Given the description of an element on the screen output the (x, y) to click on. 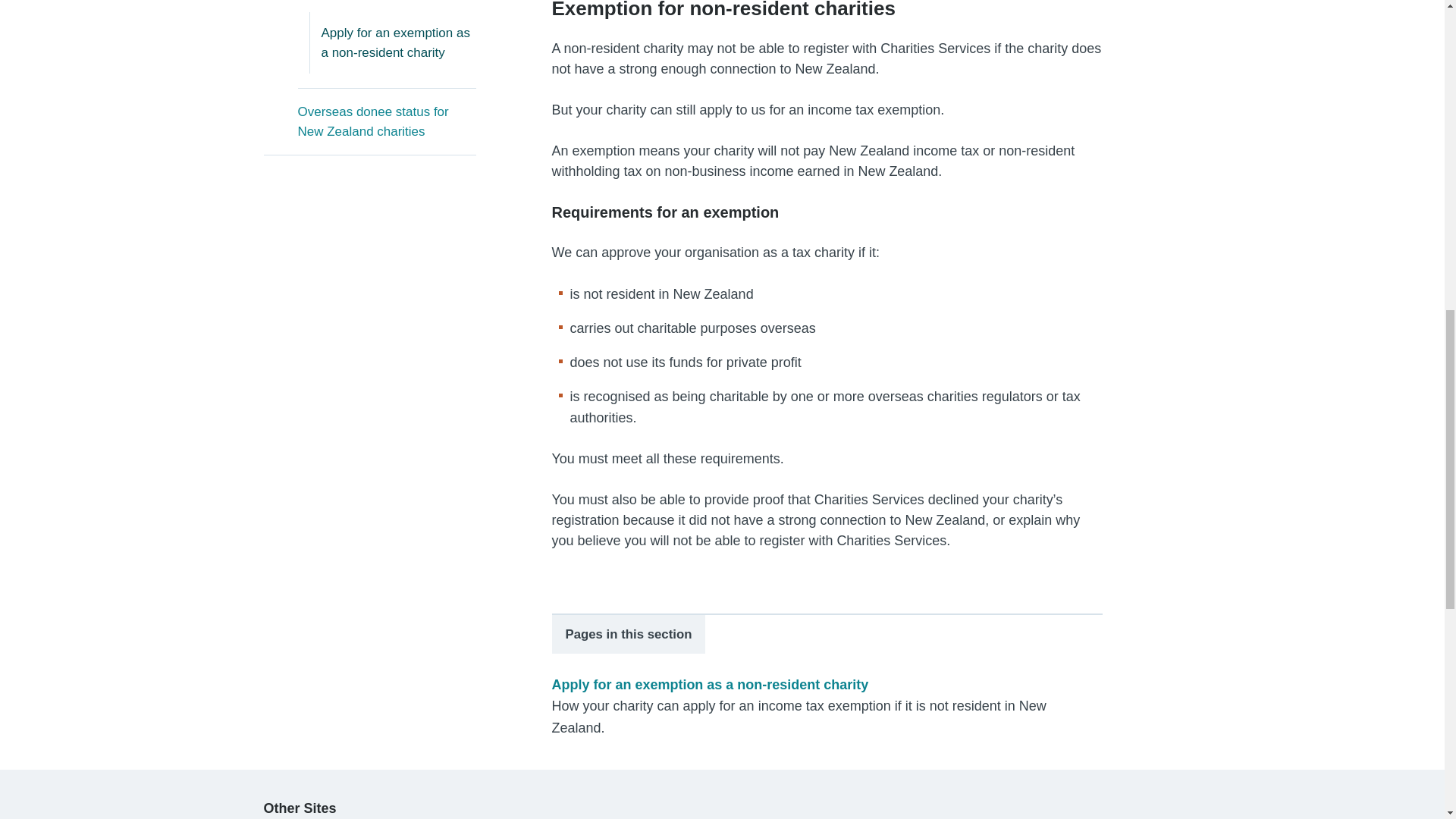
Apply for an exemption as a non-resident charity (398, 42)
Tax exemptions for non-resident charities (386, 6)
Overseas donee status for New Zealand charities (386, 120)
